Given the description of an element on the screen output the (x, y) to click on. 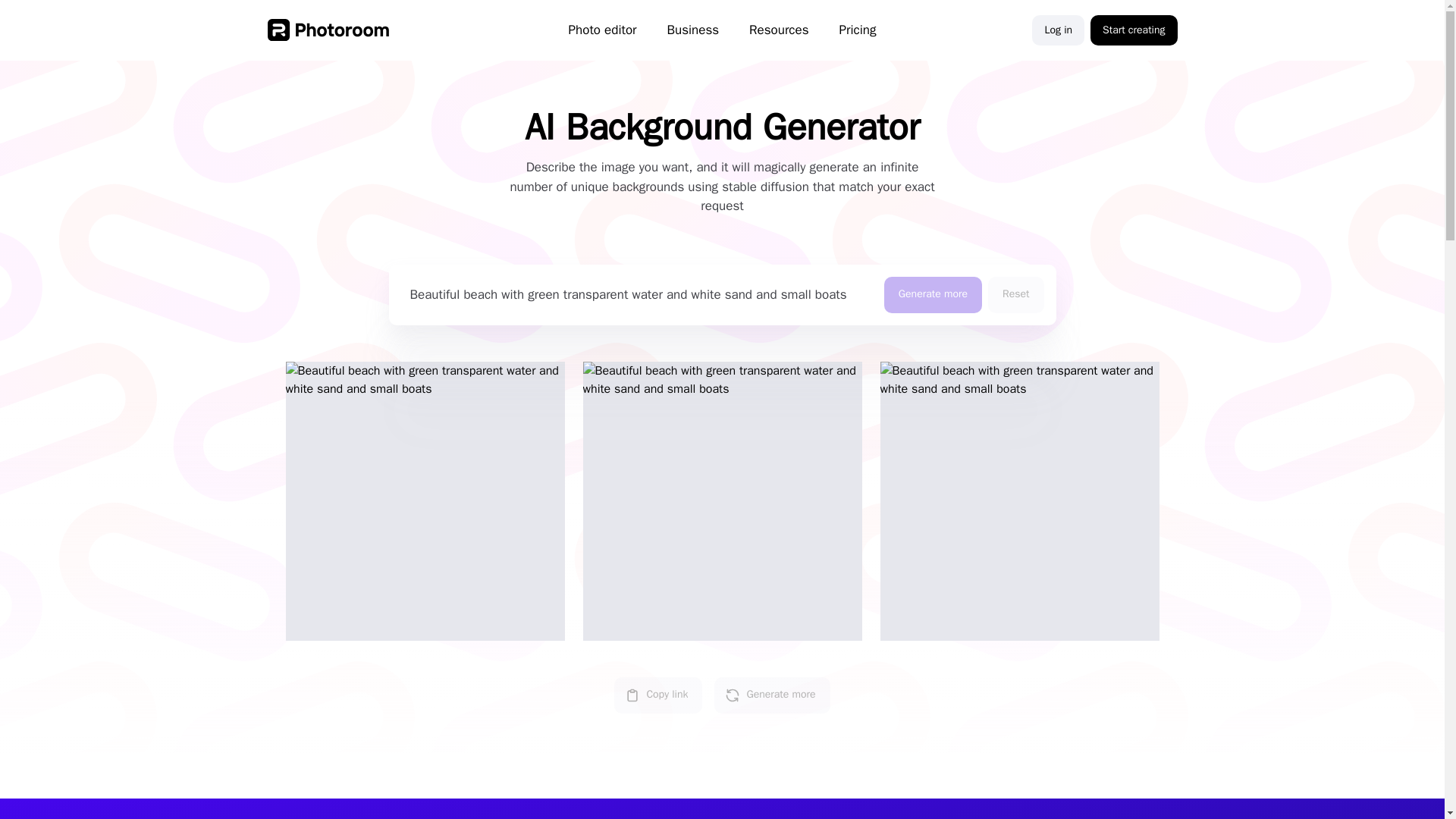
Start creating (1133, 30)
Resources (778, 30)
Business (693, 30)
Photo editor (602, 30)
Pricing (857, 30)
Log in (1058, 30)
